Given the description of an element on the screen output the (x, y) to click on. 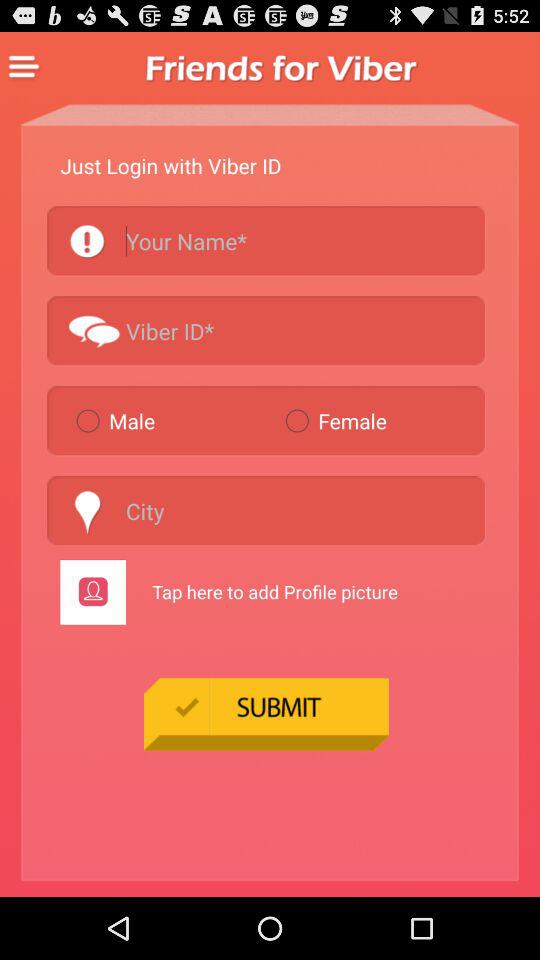
menu (24, 67)
